Given the description of an element on the screen output the (x, y) to click on. 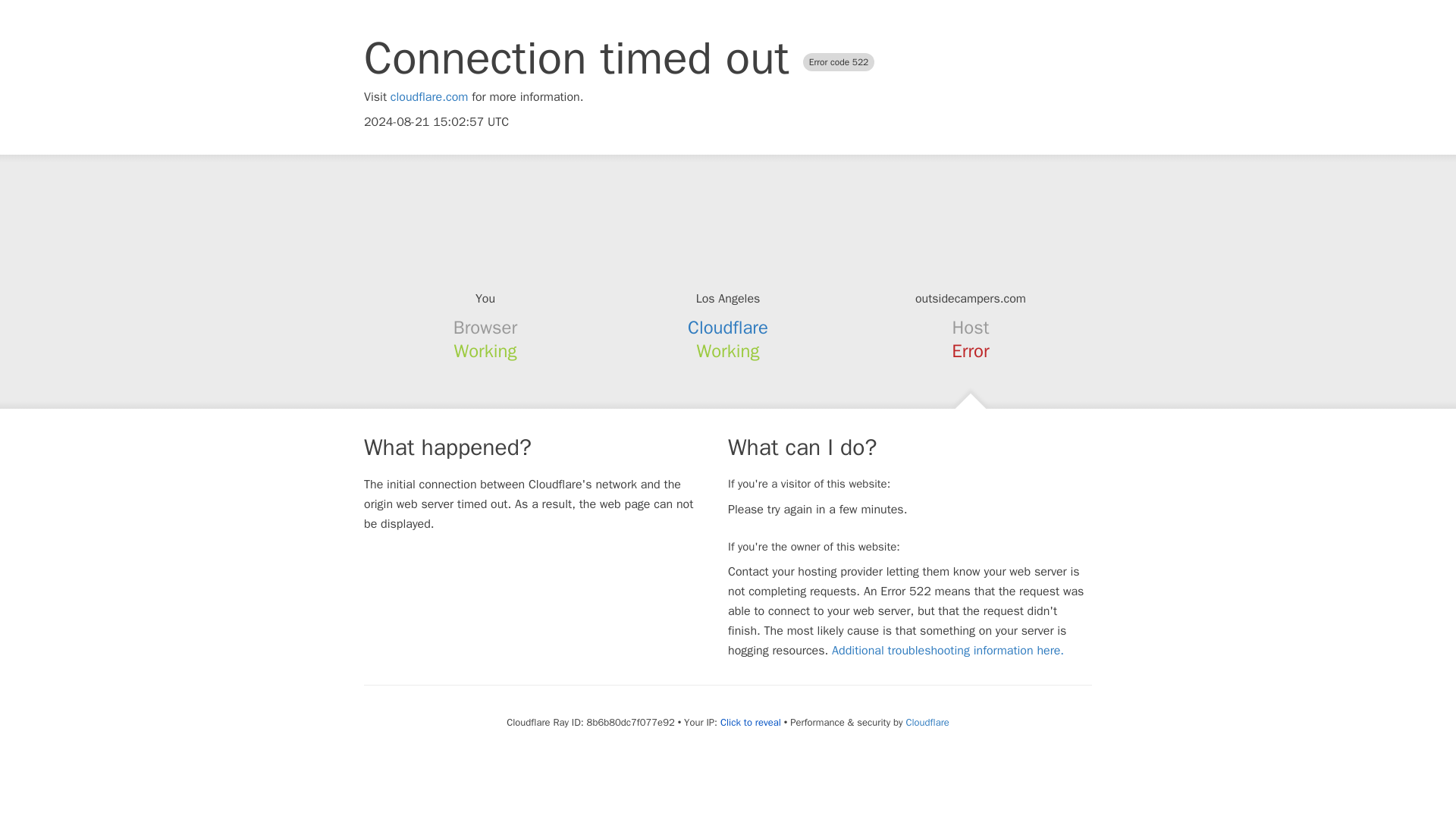
Cloudflare (927, 721)
Click to reveal (750, 722)
Cloudflare (727, 327)
Additional troubleshooting information here. (947, 650)
cloudflare.com (429, 96)
